Given the description of an element on the screen output the (x, y) to click on. 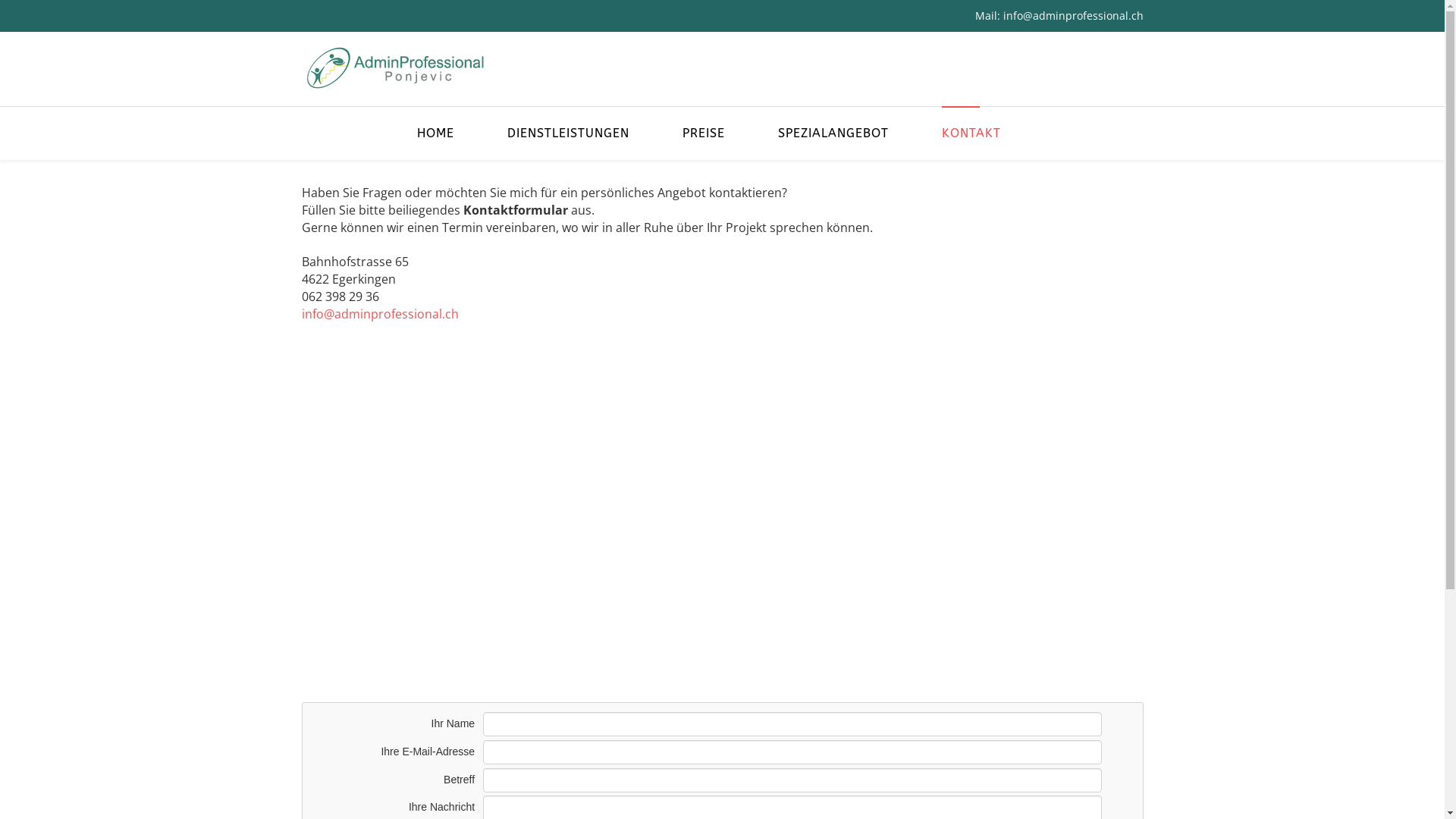
info@adminprofessional.ch Element type: text (1072, 15)
DIENSTLEISTUNGEN Element type: text (567, 133)
SPEZIALANGEBOT Element type: text (833, 133)
HOME Element type: text (448, 133)
info@adminprofessional.ch Element type: text (379, 313)
PREISE Element type: text (703, 133)
KONTAKT Element type: text (971, 133)
